Given the description of an element on the screen output the (x, y) to click on. 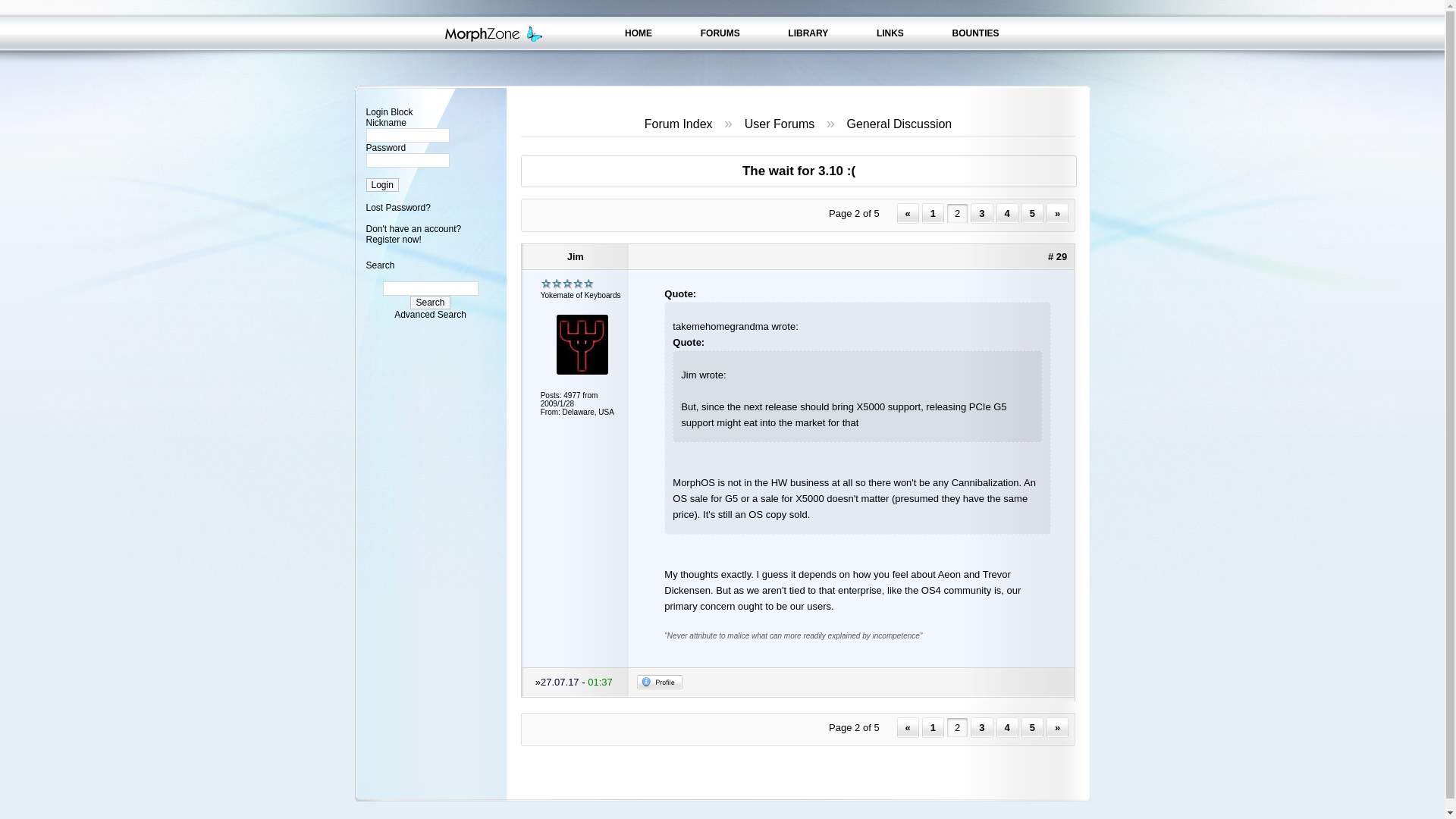
Search (429, 302)
General Discussion (899, 123)
Jim (575, 257)
Yokemate of Keyboards (567, 283)
3 (981, 213)
Show alone this post... (1057, 256)
3 (981, 727)
5 (1032, 727)
4 (1006, 727)
5 (1032, 213)
Login (381, 184)
User Forums (778, 123)
LIBRARY (807, 32)
1 (932, 213)
LINKS (890, 32)
